Given the description of an element on the screen output the (x, y) to click on. 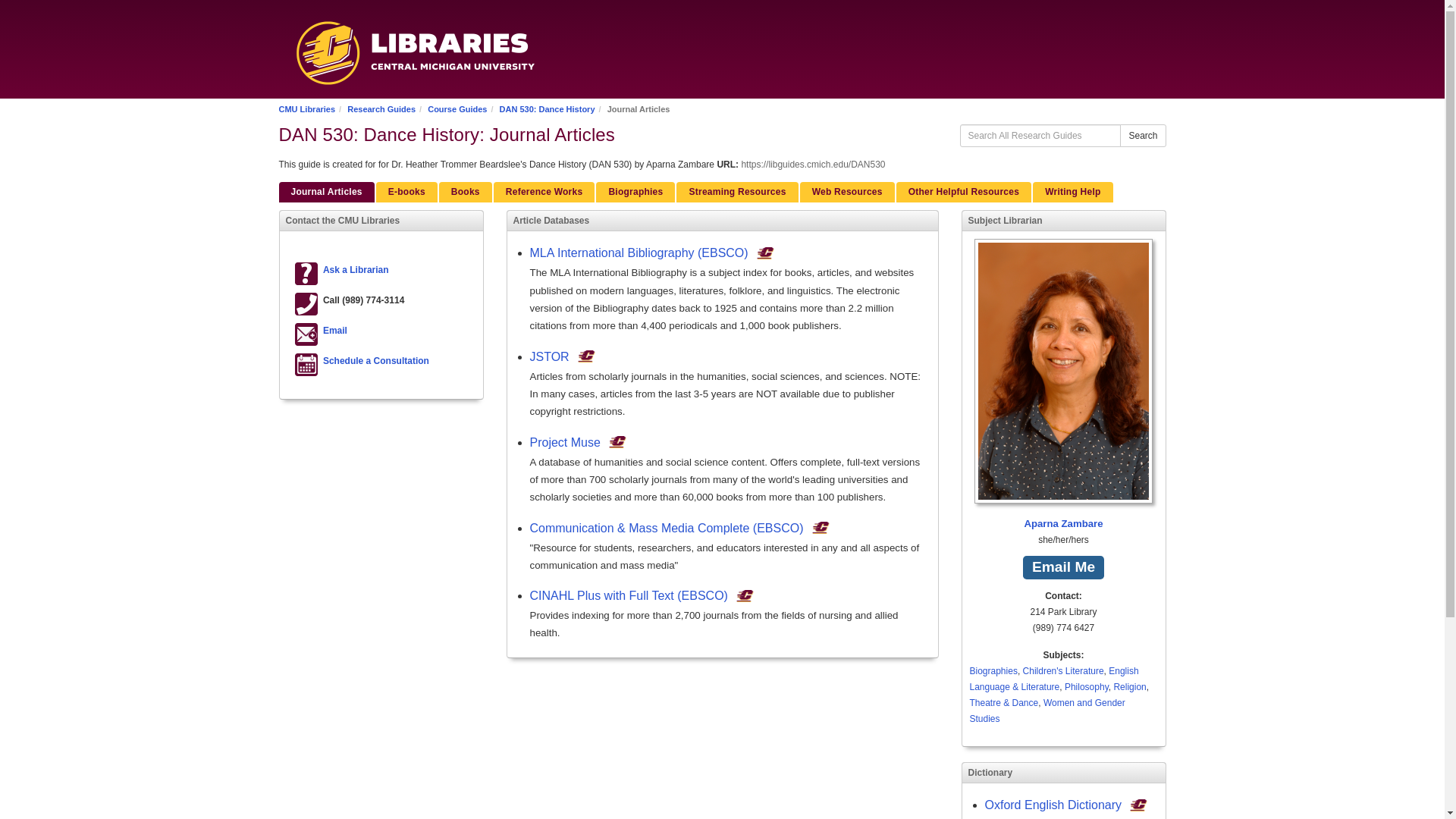
Books (465, 191)
Other Helpful Resources (963, 191)
Search (1142, 135)
Web Resources (847, 191)
Research Guides (380, 108)
Course Guides (457, 108)
Women and Gender Studies (1046, 710)
CMU Libraries (307, 108)
JSTOR (549, 356)
Schedule a Consultation (376, 360)
Reference Works (544, 191)
Philosophy (1086, 686)
